Given the description of an element on the screen output the (x, y) to click on. 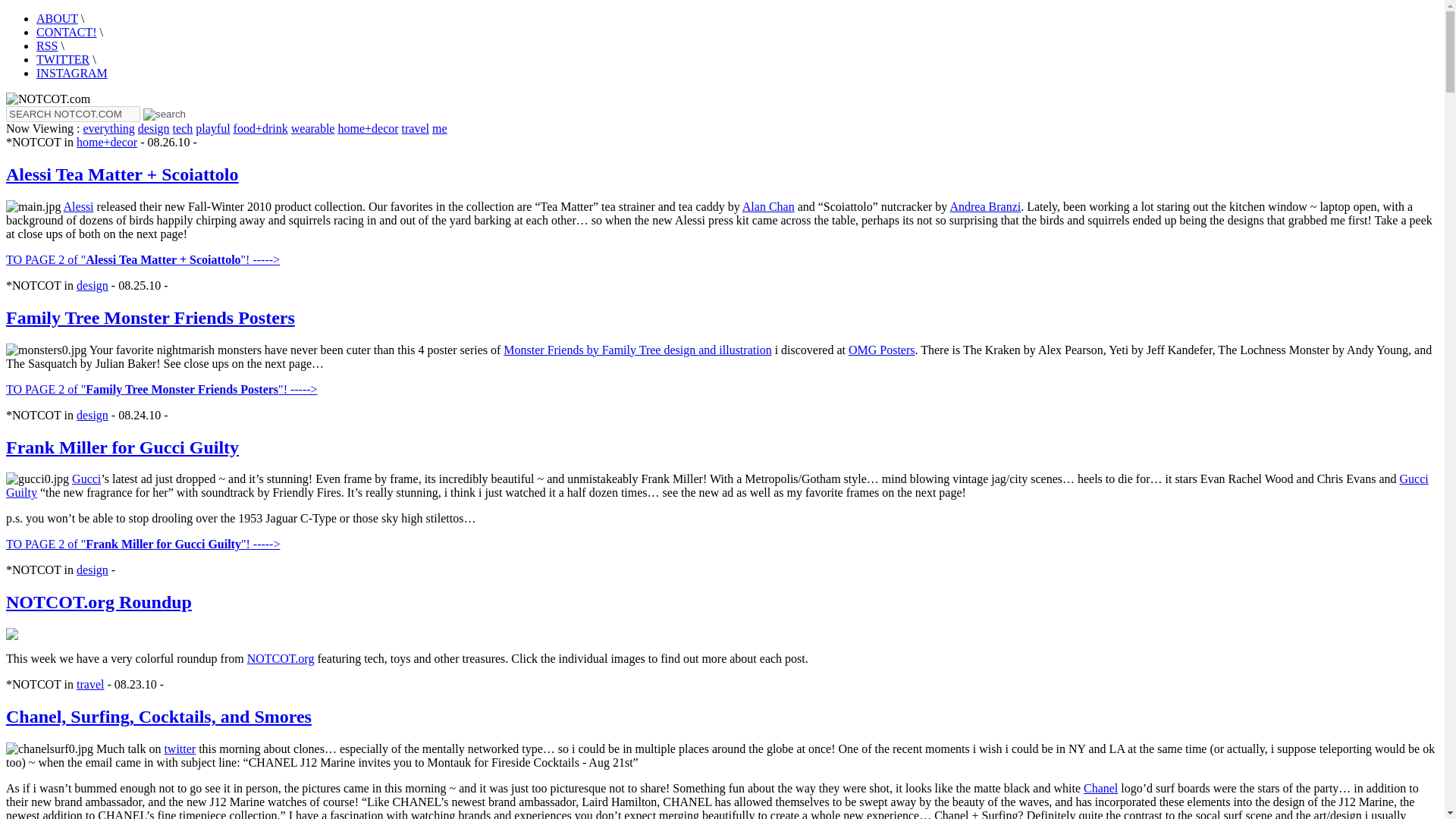
Family Tree Monster Friends Posters (150, 317)
Chanel, Surfing, Cocktails, and Smores (158, 716)
Chanel (1100, 788)
OMG Posters (881, 349)
search (164, 114)
Alessi (79, 205)
design (154, 128)
NOTCOT.org Roundup (98, 601)
NOTCOT.org (280, 658)
playful (212, 128)
design (92, 285)
travel (90, 684)
tech (183, 128)
SEARCH NOTCOT.COM (72, 114)
me (439, 128)
